Given the description of an element on the screen output the (x, y) to click on. 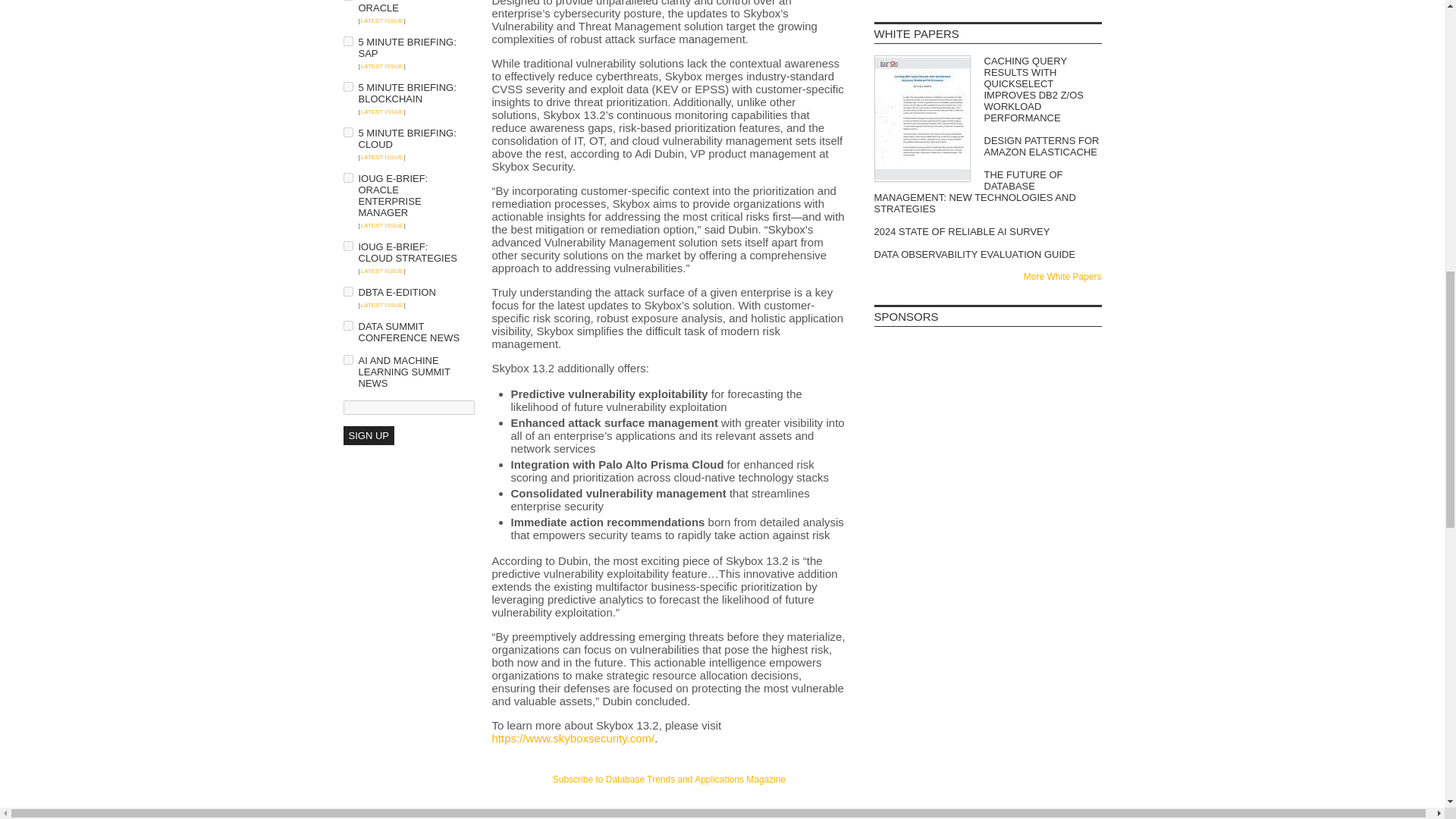
on (347, 86)
Design patterns for Amazon ElastiCache (986, 146)
3rd party ad content (986, 376)
on (347, 359)
on (347, 132)
Data Observability Evaluation Guide (986, 254)
Sign Up (367, 435)
on (347, 177)
on (347, 291)
3rd party ad content (986, 558)
3rd party ad content (986, 467)
on (347, 245)
3rd party ad content (668, 805)
on (347, 325)
